Given the description of an element on the screen output the (x, y) to click on. 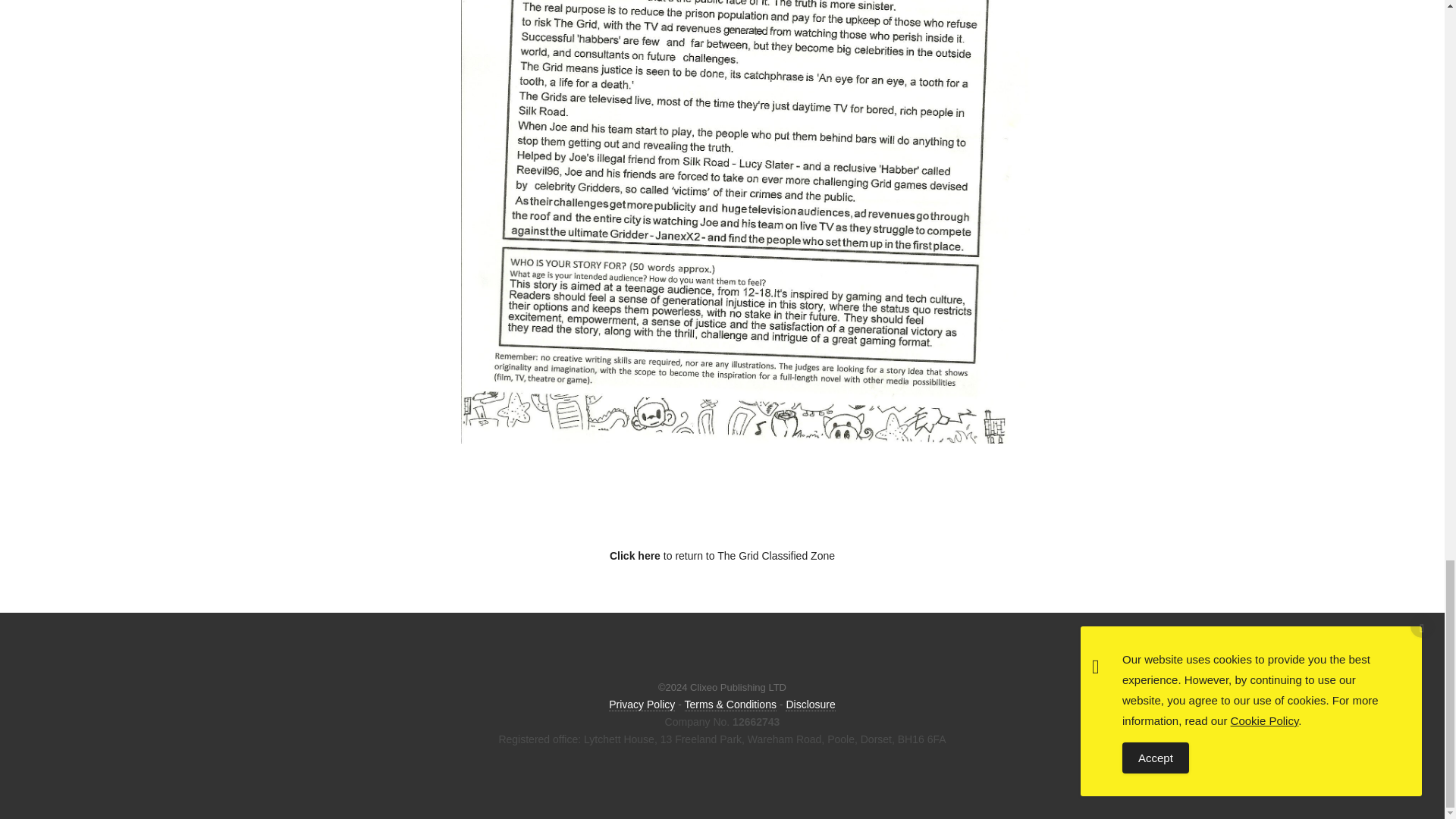
Click here to return to The Grid Classified Zone (722, 555)
Disclosure (810, 704)
Privacy Policy (641, 704)
